Given the description of an element on the screen output the (x, y) to click on. 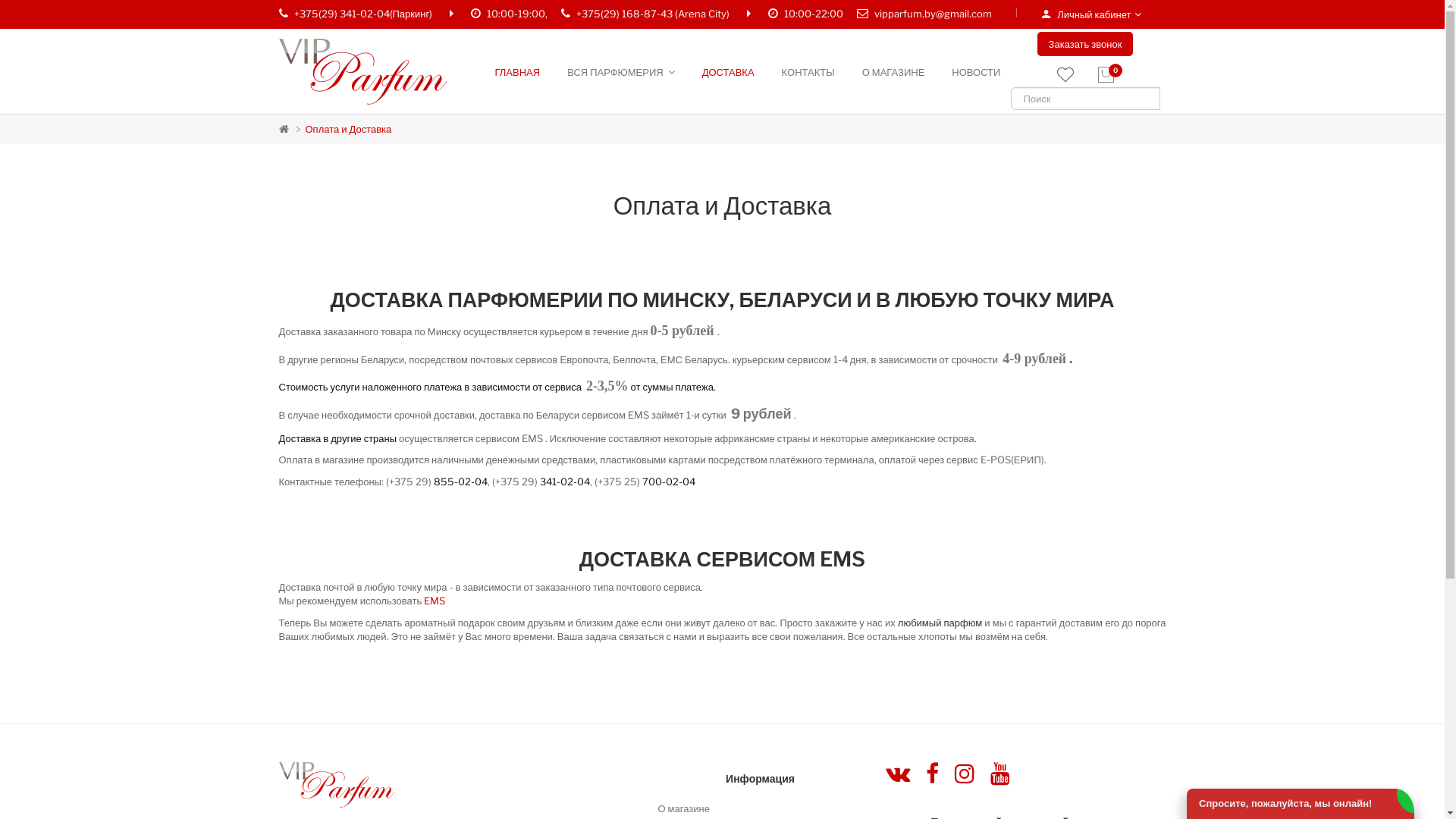
+375(29) 341-02-04 Element type: text (341, 13)
0 Element type: text (1104, 74)
EMS Element type: text (434, 600)
Instagram Element type: hover (963, 773)
Facebook Element type: hover (931, 773)
vipparfum.by@gmail.com Element type: text (932, 13)
Vkontakte Element type: hover (897, 773)
Youtube Element type: hover (1000, 773)
+375(29) 168-87-43 Element type: text (624, 13)
